Given the description of an element on the screen output the (x, y) to click on. 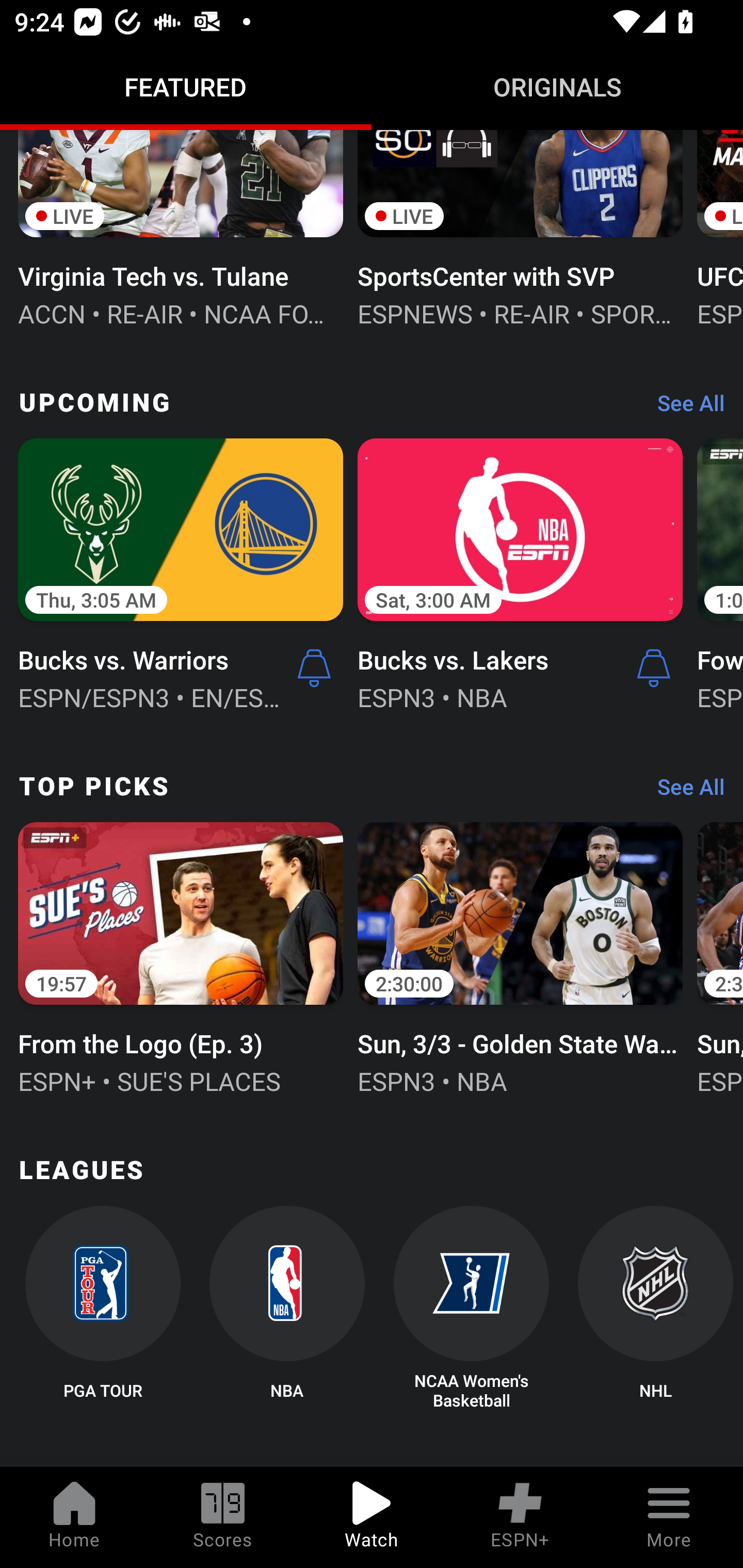
Originals ORIGINALS (557, 86)
See All (683, 407)
Alerts (314, 667)
Alerts (653, 667)
See All (683, 791)
19:57 From the Logo (Ep. 3) ESPN+ • SUE'S PLACES (180, 956)
PGA TOUR (102, 1308)
NBA (286, 1308)
NCAA Women's Basketball (471, 1308)
NHL (655, 1308)
Home (74, 1517)
Scores (222, 1517)
ESPN+ (519, 1517)
More (668, 1517)
